Given the description of an element on the screen output the (x, y) to click on. 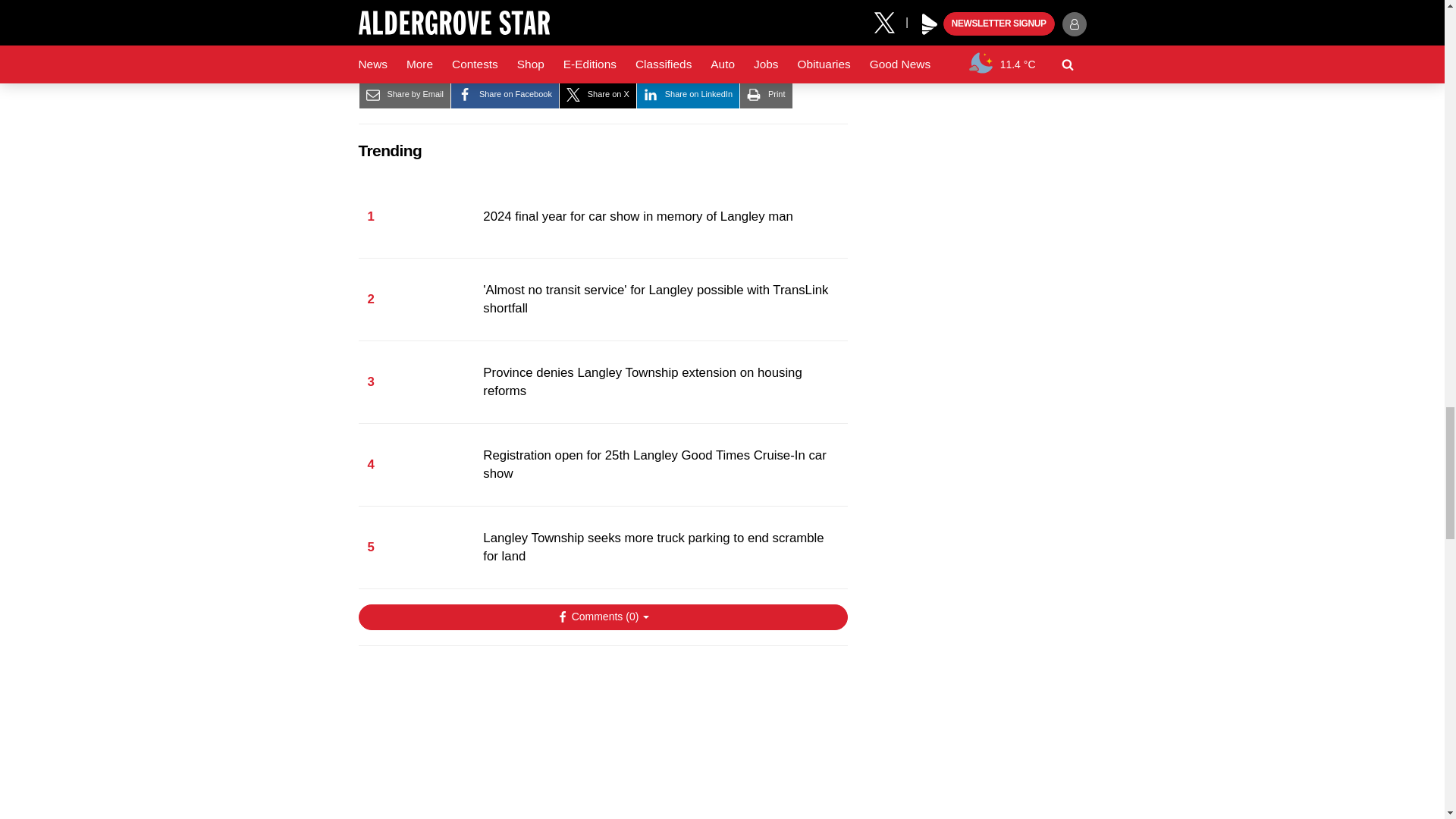
Show Comments (602, 616)
3rd party ad content (602, 739)
